Given the description of an element on the screen output the (x, y) to click on. 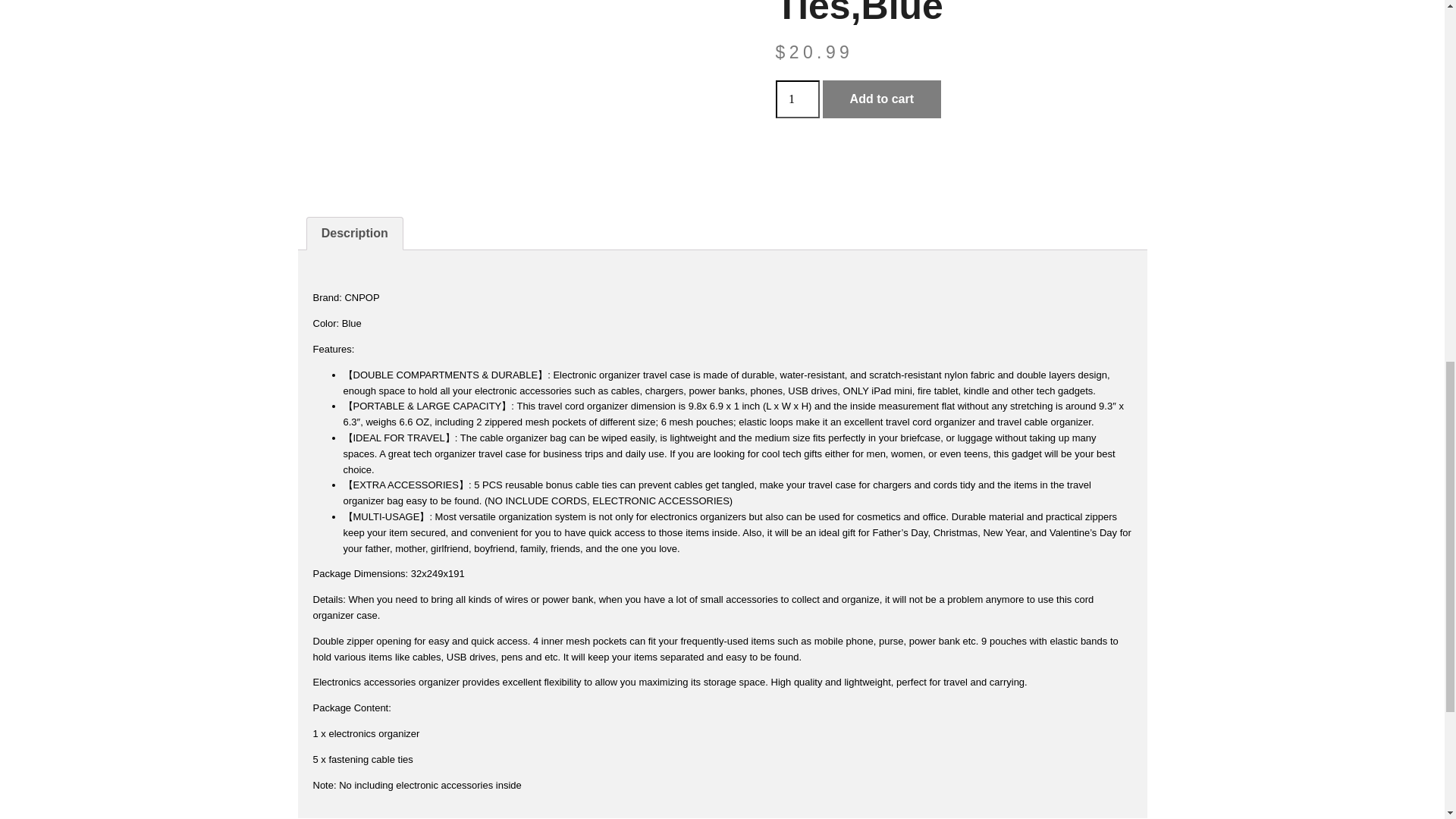
Add to cart (881, 98)
1 (796, 98)
Qty (796, 98)
Description (353, 233)
